Given the description of an element on the screen output the (x, y) to click on. 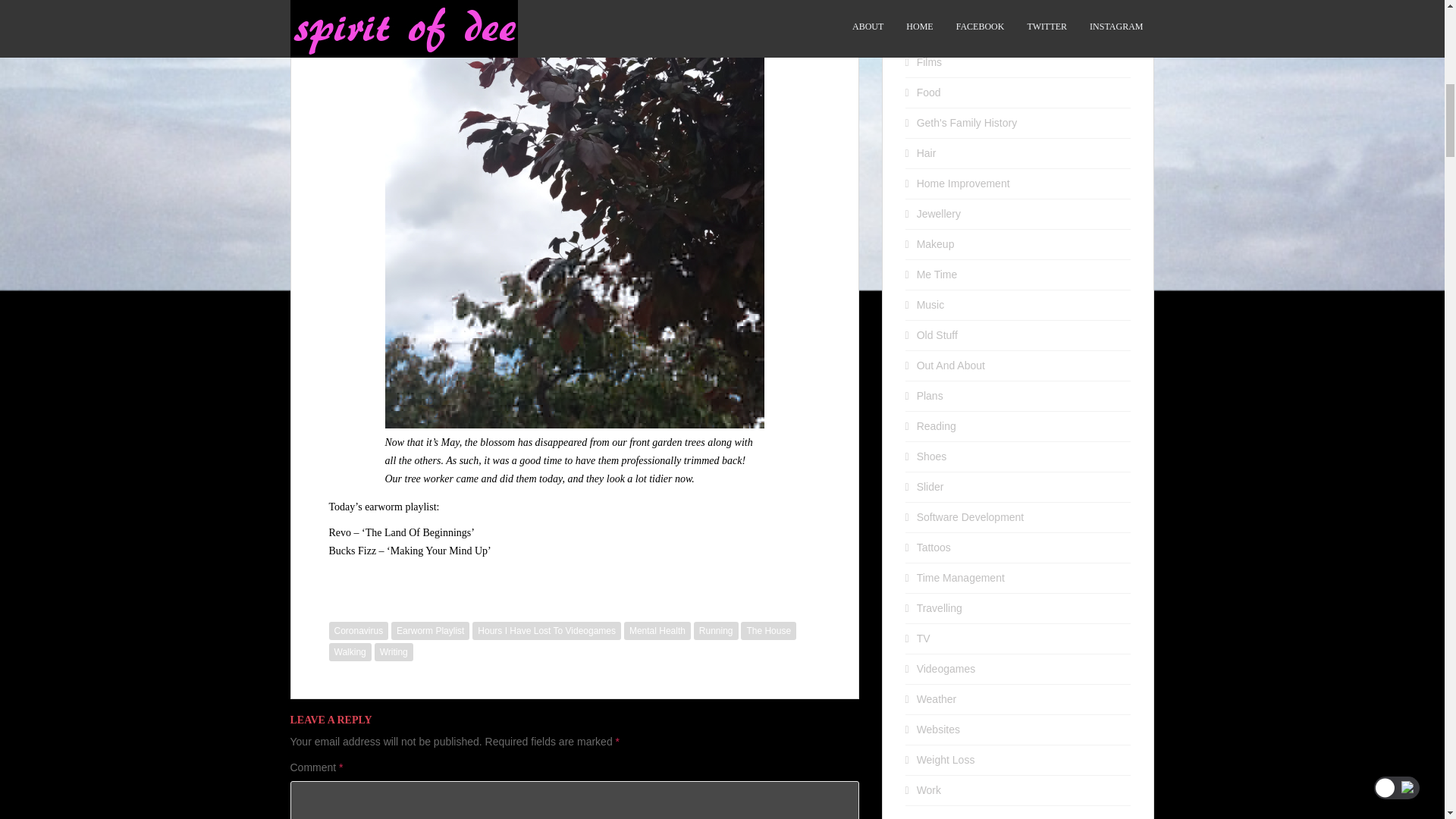
The House (768, 630)
Writing (393, 651)
Walking (350, 651)
Mental Health (657, 630)
Running (716, 630)
Earworm Playlist (429, 630)
Hours I Have Lost To Videogames (546, 630)
Coronavirus (358, 630)
